Given the description of an element on the screen output the (x, y) to click on. 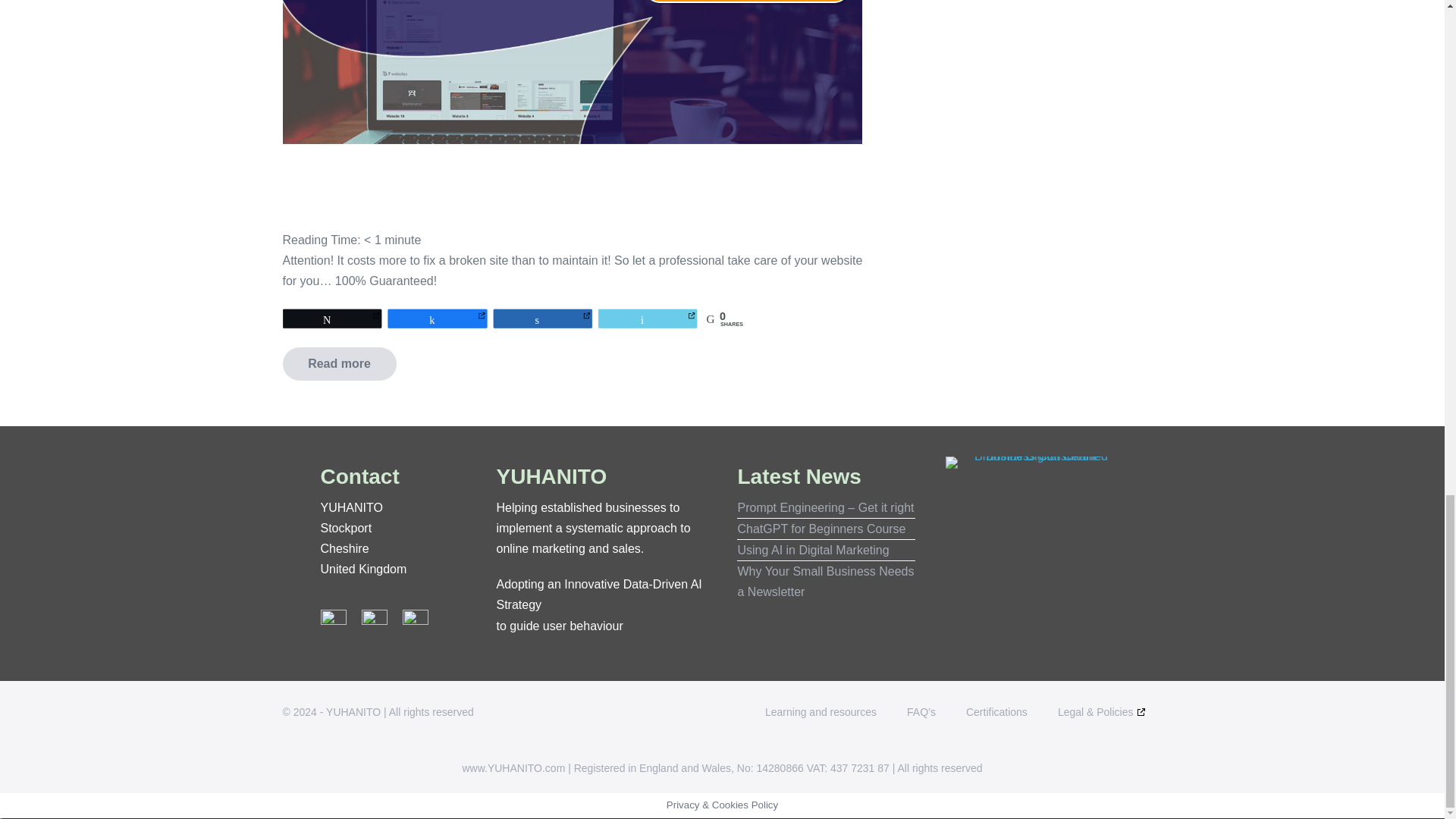
Bramhall Digital Certified Business Consultant (1034, 462)
